Given the description of an element on the screen output the (x, y) to click on. 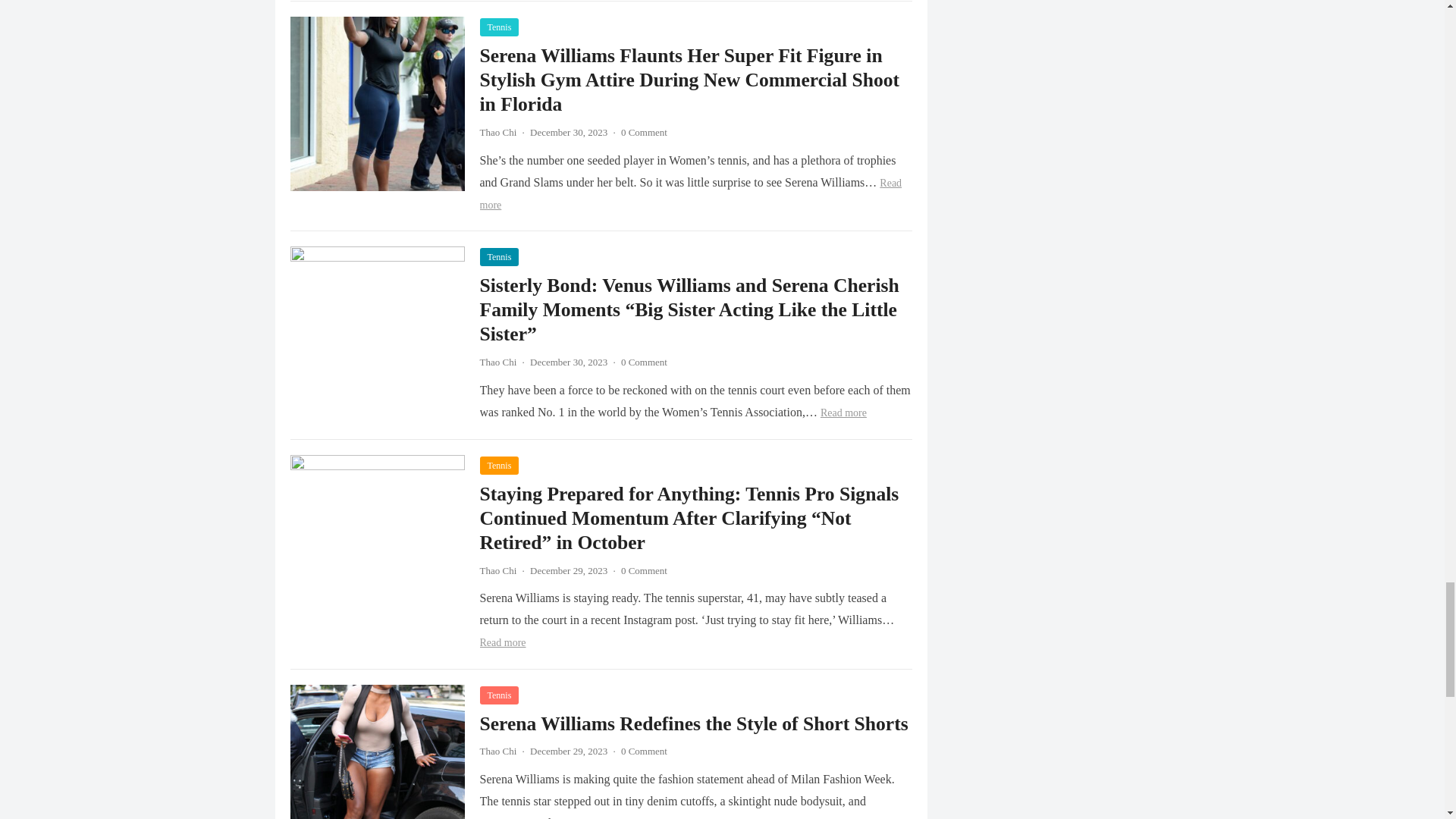
Posts by Thao Chi (497, 750)
Posts by Thao Chi (497, 570)
0 Comment (643, 132)
Posts by Thao Chi (497, 132)
Thao Chi (497, 132)
Tennis (498, 257)
Posts by Thao Chi (497, 361)
Tennis (498, 27)
Read more (690, 193)
